Given the description of an element on the screen output the (x, y) to click on. 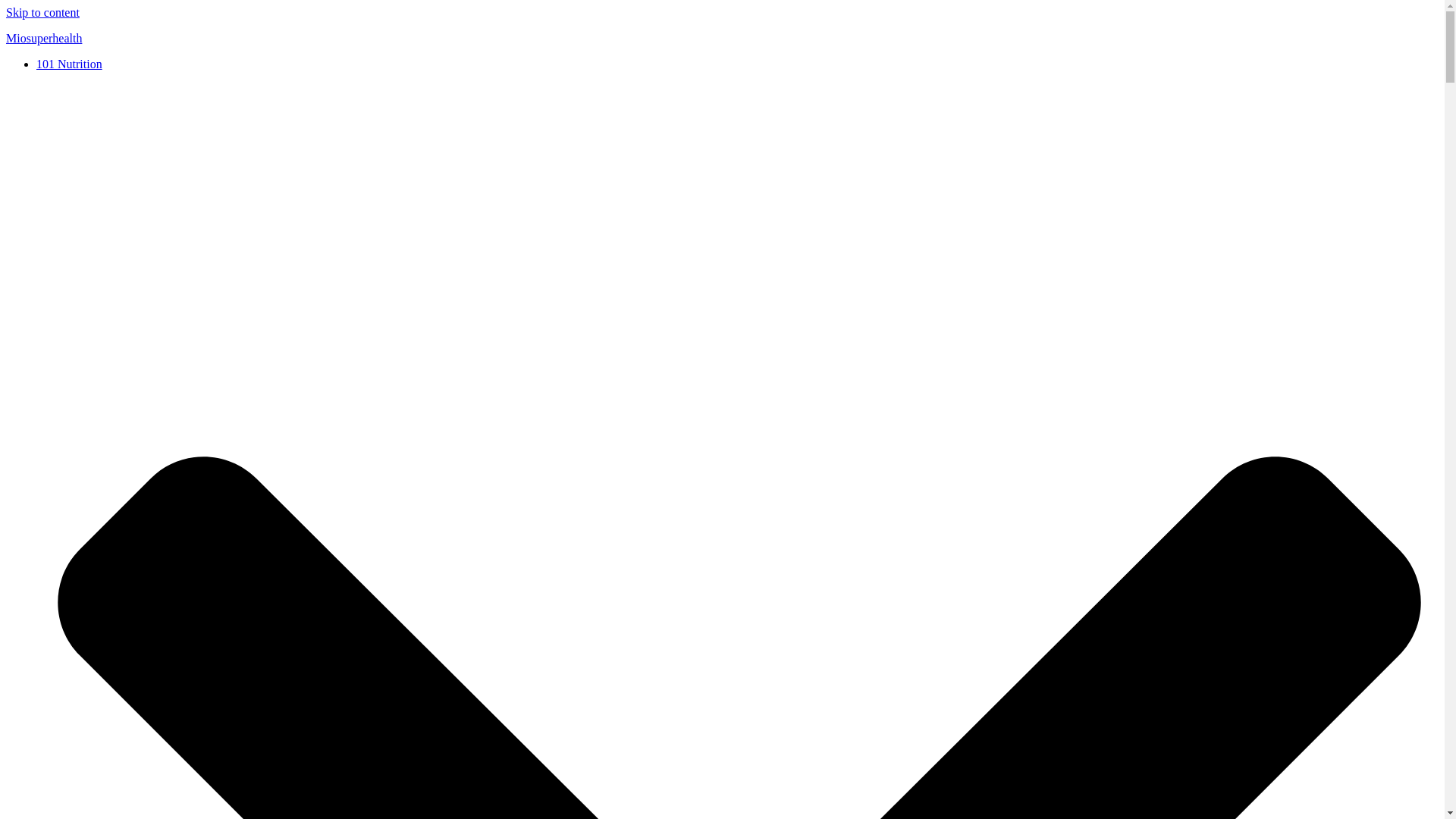
101 Nutrition (68, 63)
Skip to content (42, 11)
